Given the description of an element on the screen output the (x, y) to click on. 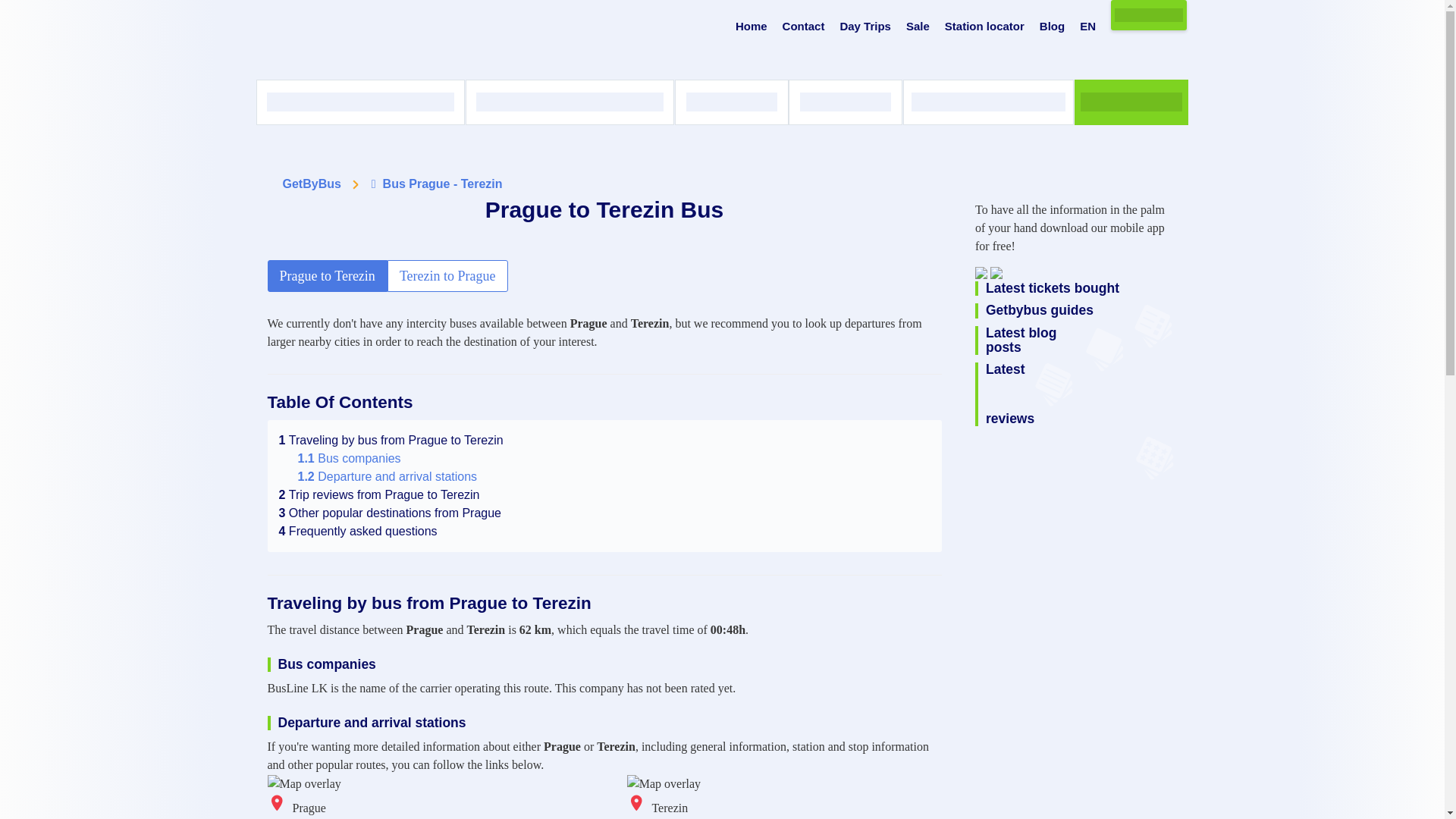
Station locator (984, 26)
Other popular destinations from Prague (390, 512)
Bus companies (348, 458)
Departure and arrival stations (387, 476)
Frequently asked questions (358, 530)
Traveling by bus from Prague to Terezin (391, 440)
Day Trips (865, 26)
GetByBus (311, 183)
Terezin to Prague (447, 275)
Trip reviews from Prague to Terezin (379, 494)
 GetByBus (311, 183)
